Given the description of an element on the screen output the (x, y) to click on. 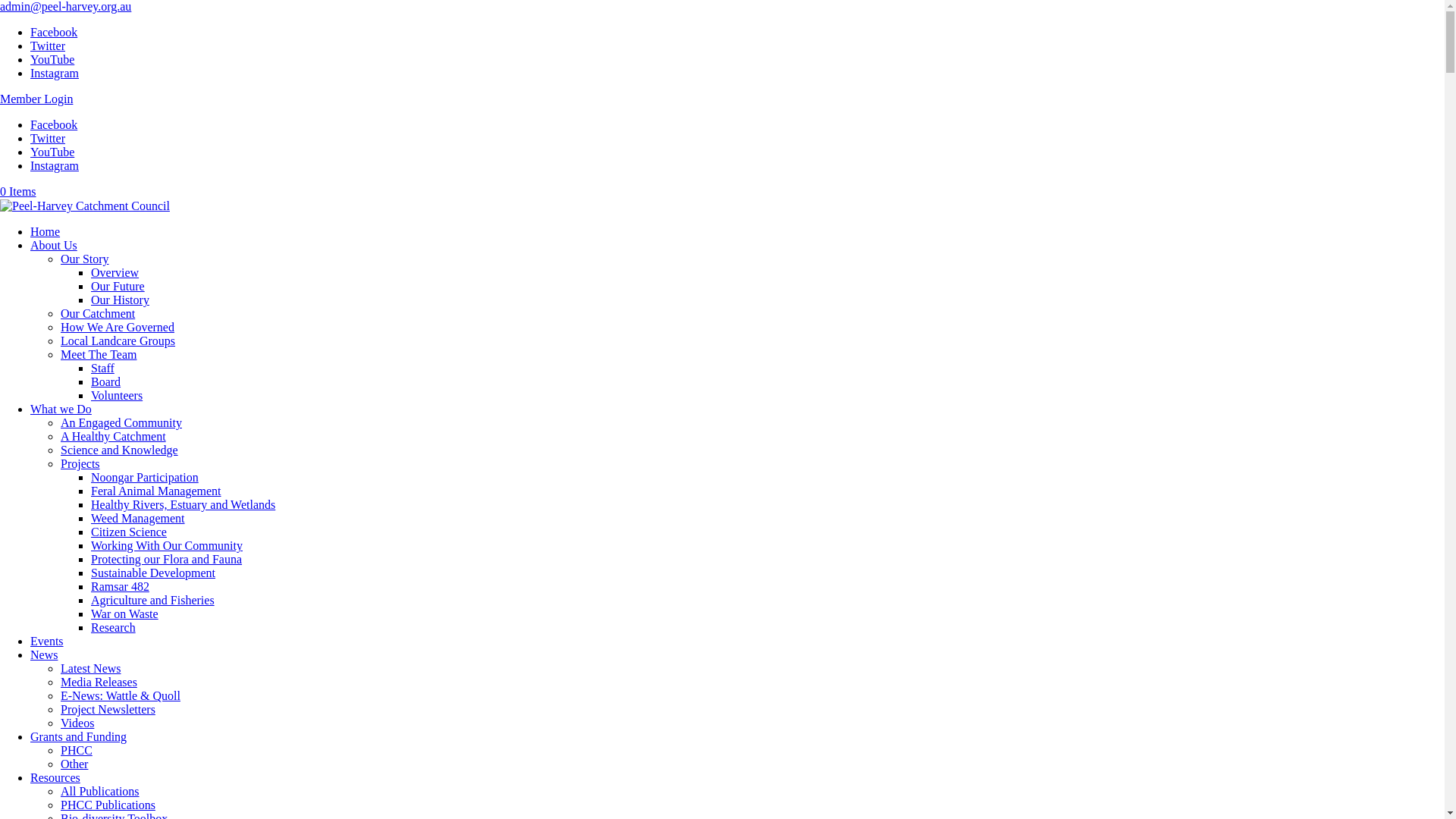
Home Element type: text (44, 231)
Citizen Science Element type: text (128, 531)
Our Story Element type: text (84, 258)
All Publications Element type: text (99, 790)
Ramsar 482 Element type: text (120, 586)
PHCC Publications Element type: text (107, 804)
Events Element type: text (46, 640)
About Us Element type: text (53, 244)
Member Login Element type: text (36, 98)
Working With Our Community Element type: text (166, 545)
Meet The Team Element type: text (98, 354)
Healthy Rivers, Estuary and Wetlands Element type: text (183, 504)
Instagram Element type: text (54, 72)
Resources Element type: text (55, 777)
Research Element type: text (113, 627)
Twitter Element type: text (47, 137)
Twitter Element type: text (47, 45)
Grants and Funding Element type: text (78, 736)
Overview Element type: text (114, 272)
Our Catchment Element type: text (97, 313)
A Healthy Catchment Element type: text (113, 435)
Facebook Element type: text (53, 124)
Feral Animal Management Element type: text (156, 490)
Science and Knowledge Element type: text (119, 449)
What we Do Element type: text (60, 408)
Protecting our Flora and Fauna Element type: text (166, 558)
Noongar Participation Element type: text (144, 476)
Instagram Element type: text (54, 165)
Volunteers Element type: text (116, 395)
admin@peel-harvey.org.au Element type: text (65, 6)
Staff Element type: text (102, 367)
Our Future Element type: text (117, 285)
Other Element type: text (73, 763)
An Engaged Community Element type: text (121, 422)
Local Landcare Groups Element type: text (117, 340)
Videos Element type: text (77, 722)
How We Are Governed Element type: text (117, 326)
0 Items Element type: text (18, 191)
Projects Element type: text (80, 463)
Our History Element type: text (120, 299)
Facebook Element type: text (53, 31)
Media Releases Element type: text (98, 681)
Weed Management Element type: text (138, 517)
E-News: Wattle & Quoll Element type: text (120, 695)
Board Element type: text (105, 381)
PHCC Element type: text (76, 749)
Project Newsletters Element type: text (107, 708)
Agriculture and Fisheries Element type: text (152, 599)
Latest News Element type: text (90, 668)
YouTube Element type: text (52, 151)
War on Waste Element type: text (124, 613)
News Element type: text (43, 654)
Sustainable Development Element type: text (153, 572)
YouTube Element type: text (52, 59)
